Given the description of an element on the screen output the (x, y) to click on. 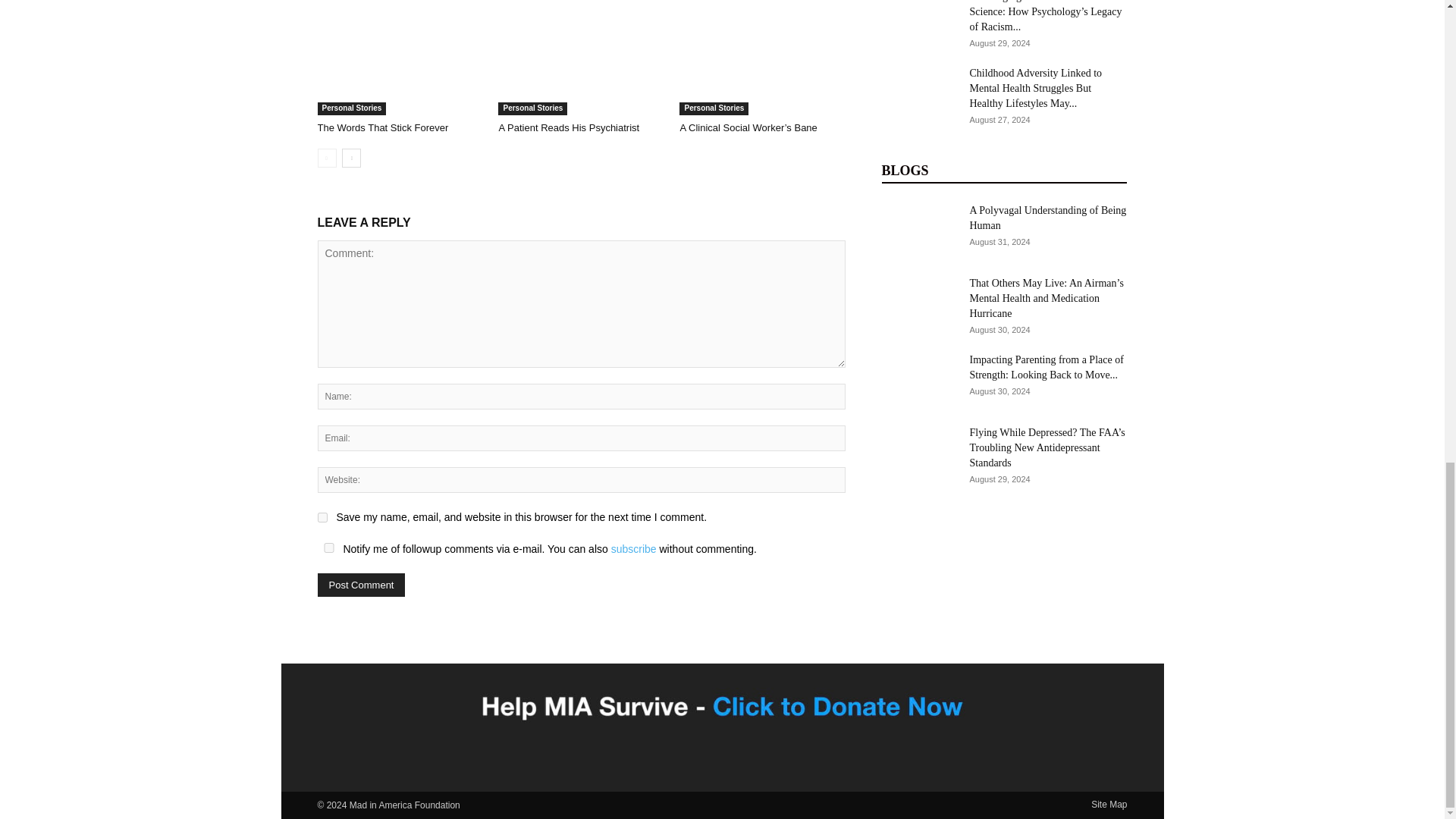
Post Comment (360, 585)
yes (321, 517)
yes (328, 547)
